Given the description of an element on the screen output the (x, y) to click on. 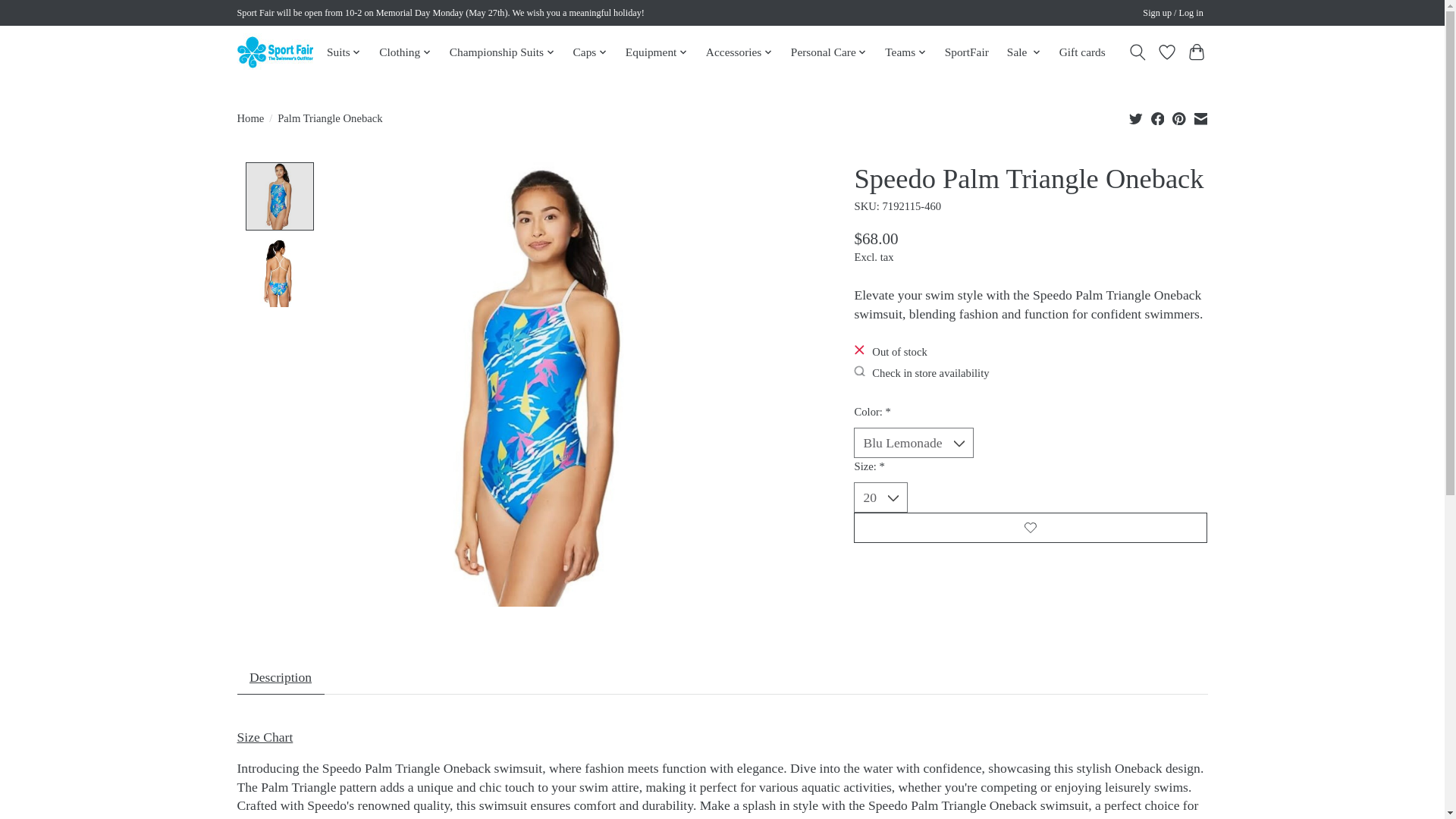
Share on Pinterest (1178, 118)
Sportfairusa.com. Welcome All Competitive Swimmers. (274, 51)
Share on Facebook (1157, 118)
My account (1173, 13)
Clothing (405, 52)
Caps (589, 52)
Share on Twitter (1135, 118)
Equipment (656, 52)
Championship Suits (501, 52)
Share by Email (1200, 118)
Suits (343, 52)
